Given the description of an element on the screen output the (x, y) to click on. 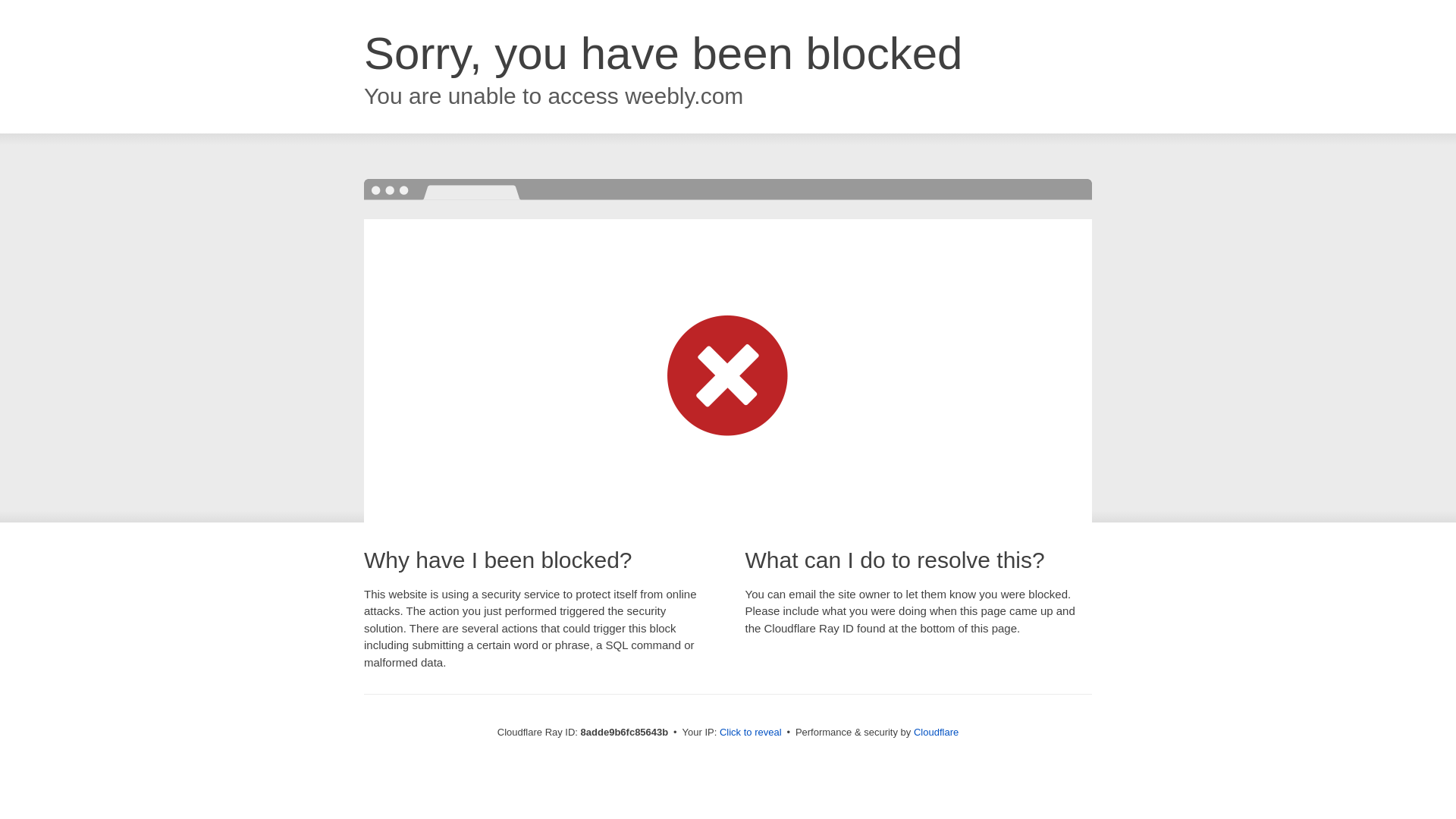
Cloudflare (936, 731)
Click to reveal (751, 732)
